Given the description of an element on the screen output the (x, y) to click on. 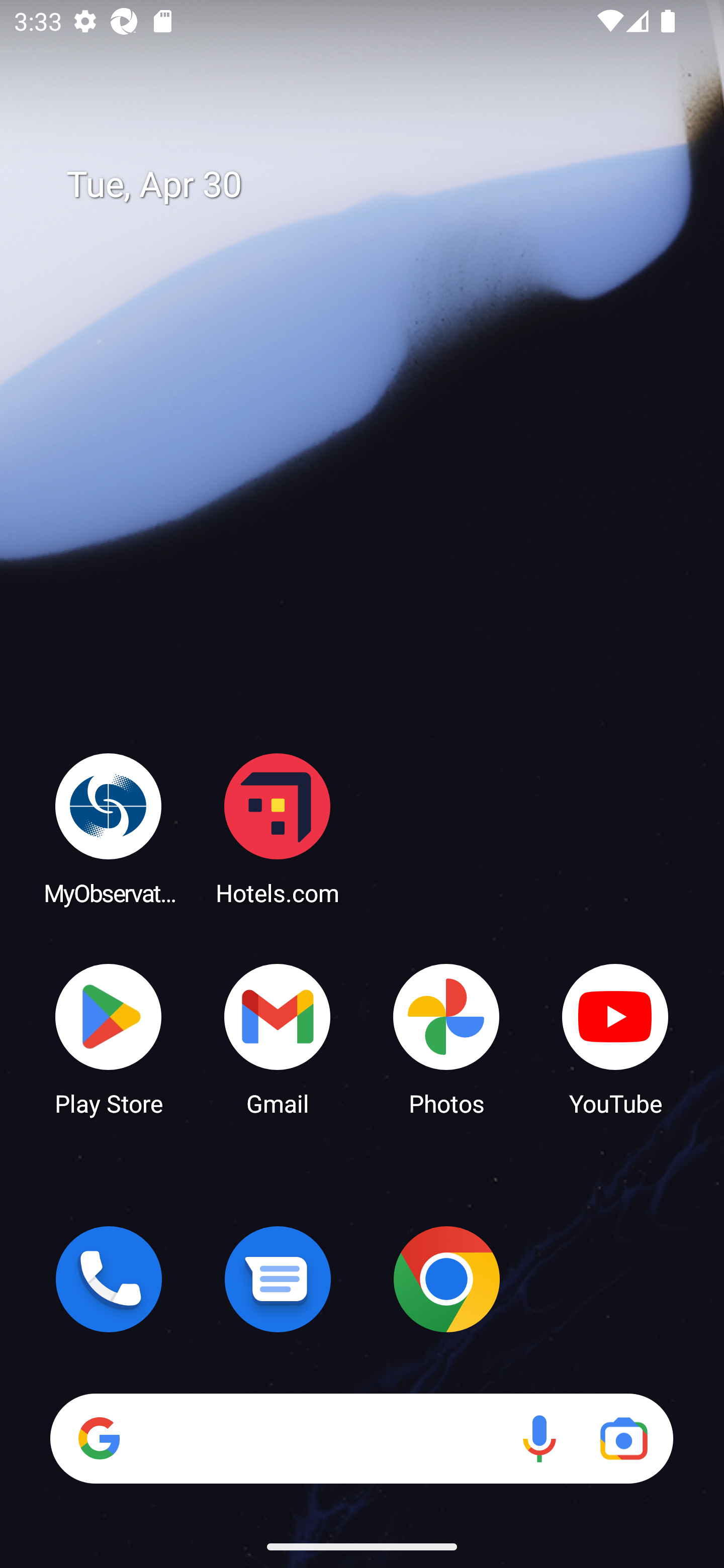
Tue, Apr 30 (375, 184)
MyObservatory (108, 828)
Hotels.com (277, 828)
Play Store (108, 1038)
Gmail (277, 1038)
Photos (445, 1038)
YouTube (615, 1038)
Phone (108, 1279)
Messages (277, 1279)
Chrome (446, 1279)
Voice search (539, 1438)
Google Lens (623, 1438)
